Given the description of an element on the screen output the (x, y) to click on. 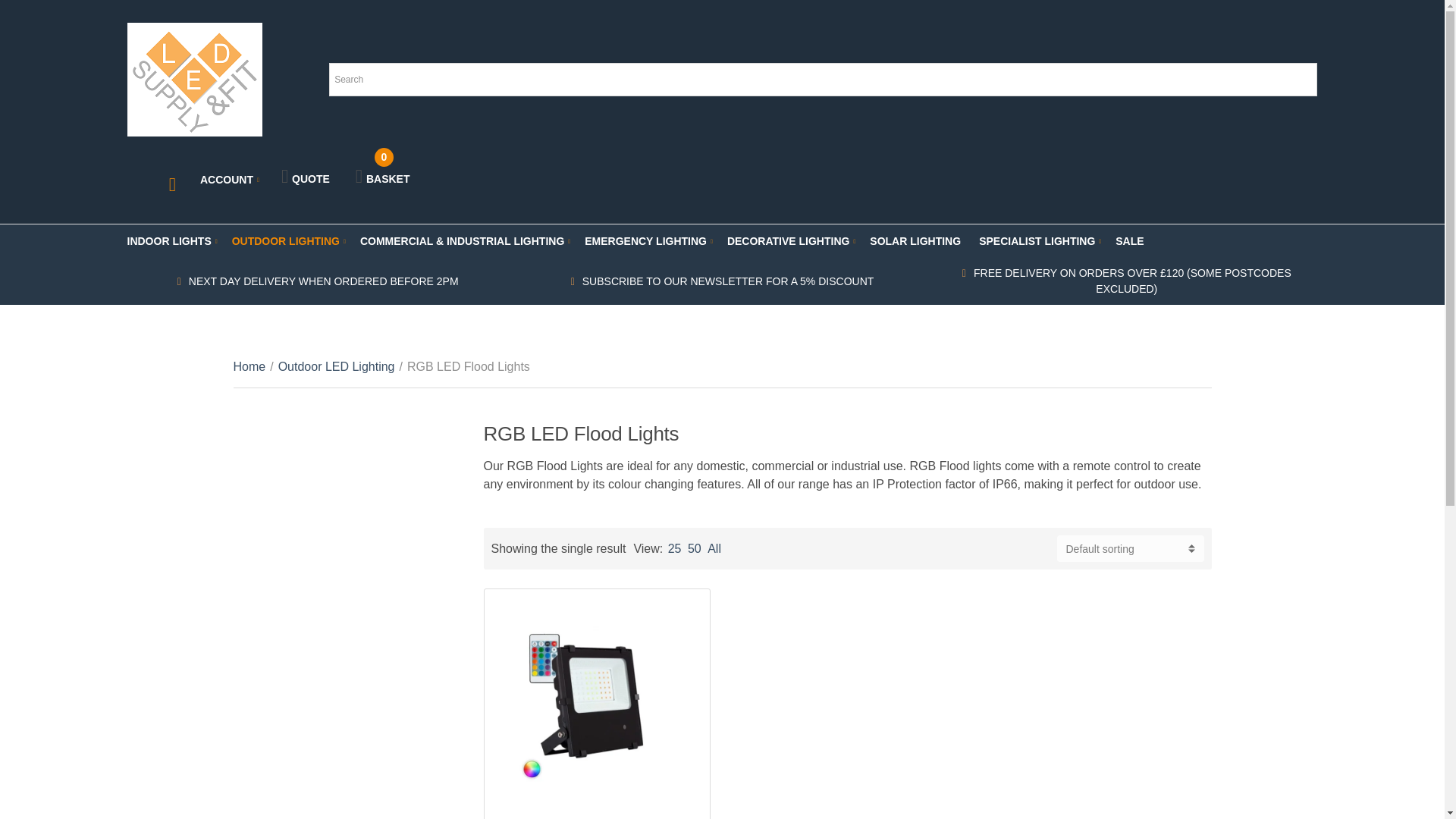
QUOTE (301, 177)
ACCOUNT (378, 168)
INDOOR LIGHTS (228, 179)
OUTDOOR LIGHTING (171, 240)
